Given the description of an element on the screen output the (x, y) to click on. 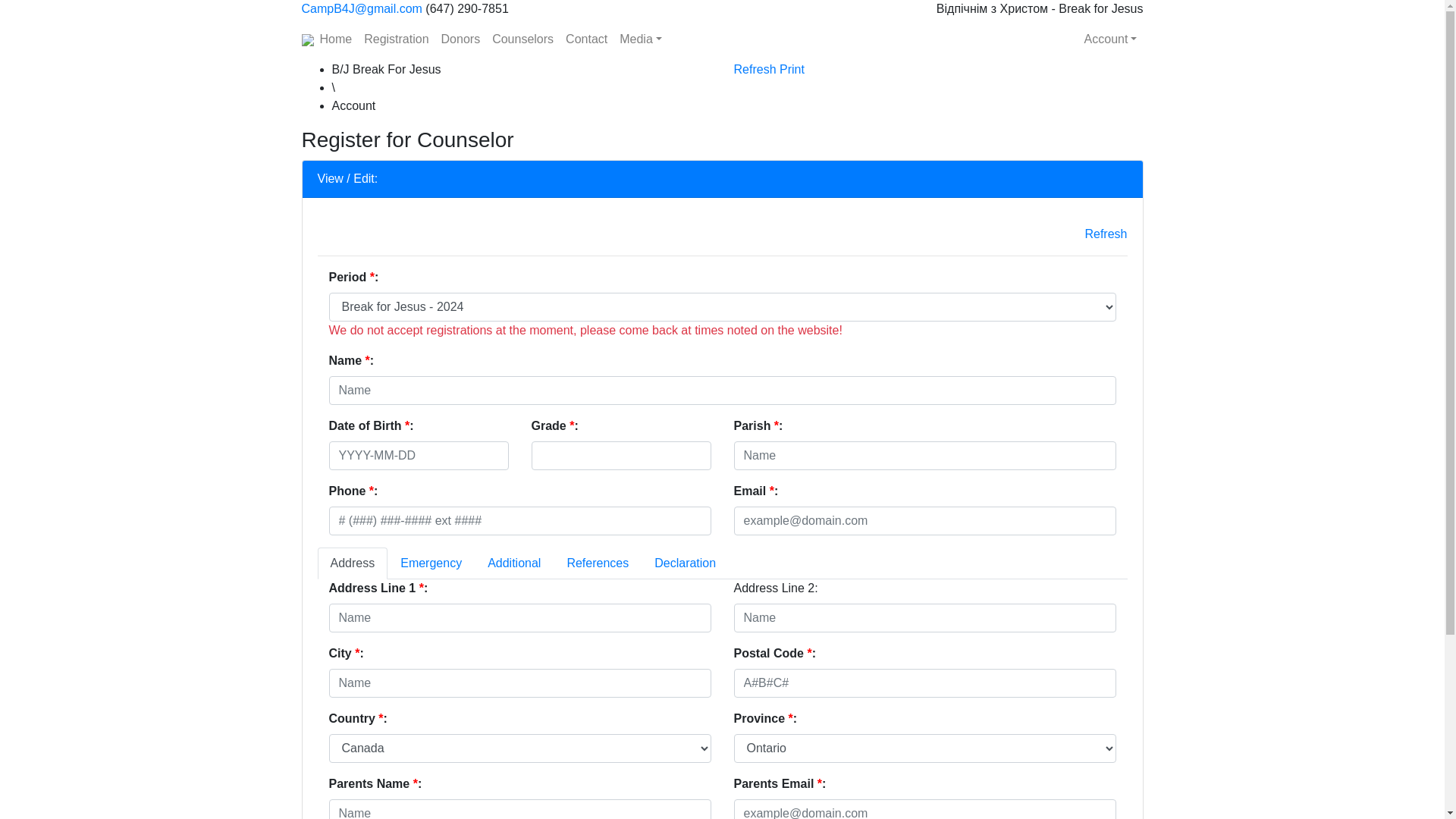
 Address Line 1 Element type: hover (520, 617)
 Name Element type: hover (722, 390)
Contact Element type: text (586, 39)
 Address Line 2 Element type: hover (925, 617)
Refresh Element type: text (755, 68)
 Email Element type: hover (925, 520)
Declaration Element type: text (684, 563)
Home Element type: text (335, 39)
CampB4J@gmail.com Element type: text (361, 8)
Account Element type: text (1110, 39)
 Date of Birth Element type: hover (418, 455)
Emergency Element type: text (430, 563)
 Postal Code Element type: hover (925, 682)
 Phone Element type: hover (520, 520)
Address Element type: text (351, 563)
Print Element type: text (791, 68)
Refresh Element type: text (1105, 233)
 Parish Element type: hover (925, 455)
Additional Element type: text (513, 563)
 Grade Element type: hover (620, 455)
References Element type: text (597, 563)
Registration Element type: text (395, 39)
Media Element type: text (640, 39)
Donors Element type: text (460, 39)
 City Element type: hover (520, 682)
Counselors Element type: text (522, 39)
